Given the description of an element on the screen output the (x, y) to click on. 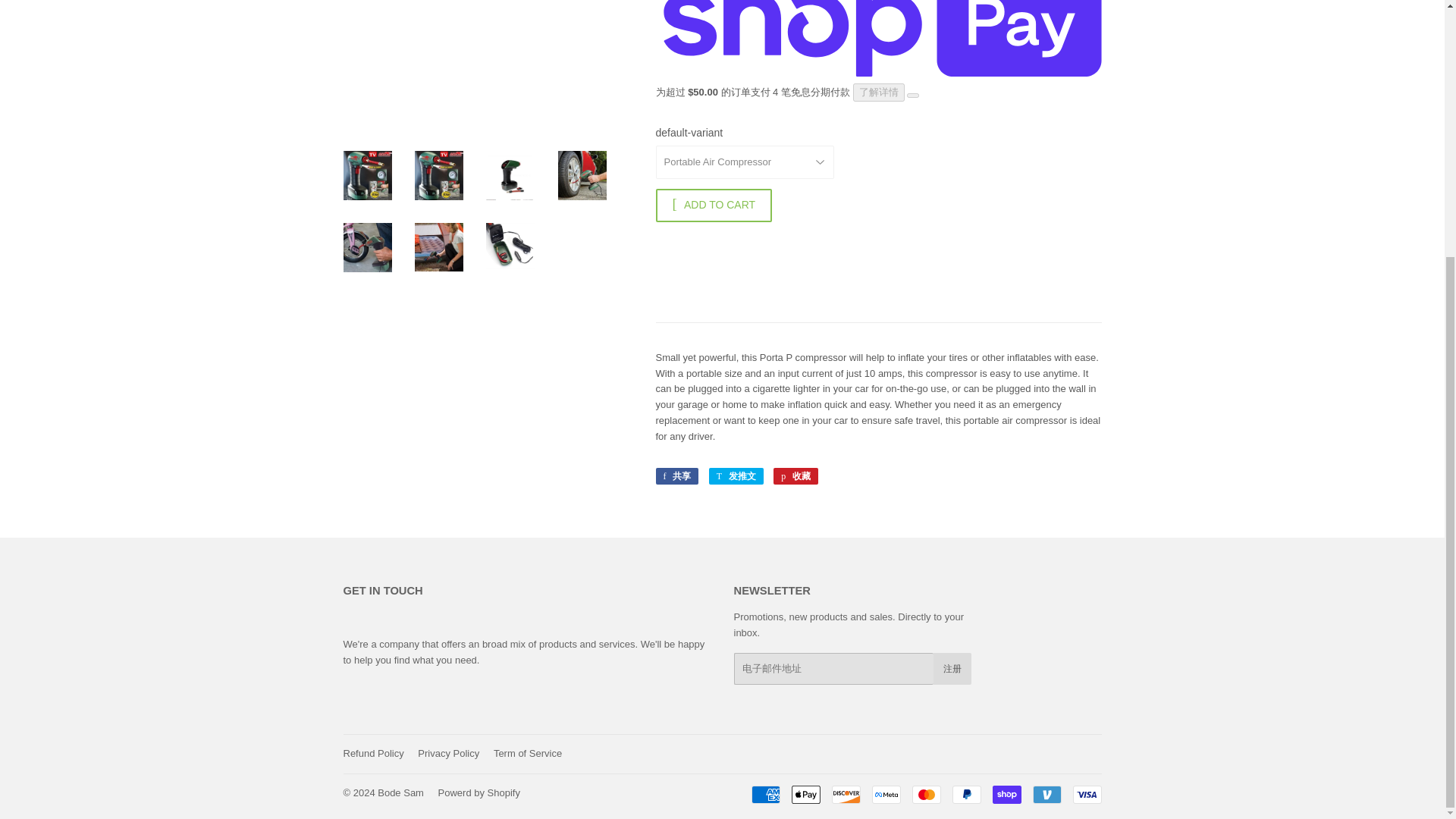
Venmo (1046, 794)
Apple Pay (806, 794)
Shop Pay (1005, 794)
American Express (764, 794)
Mastercard (925, 794)
Meta Pay (886, 794)
PayPal (966, 794)
ADD TO CART (713, 205)
Refund Policy (372, 753)
Visa (1085, 794)
